Given the description of an element on the screen output the (x, y) to click on. 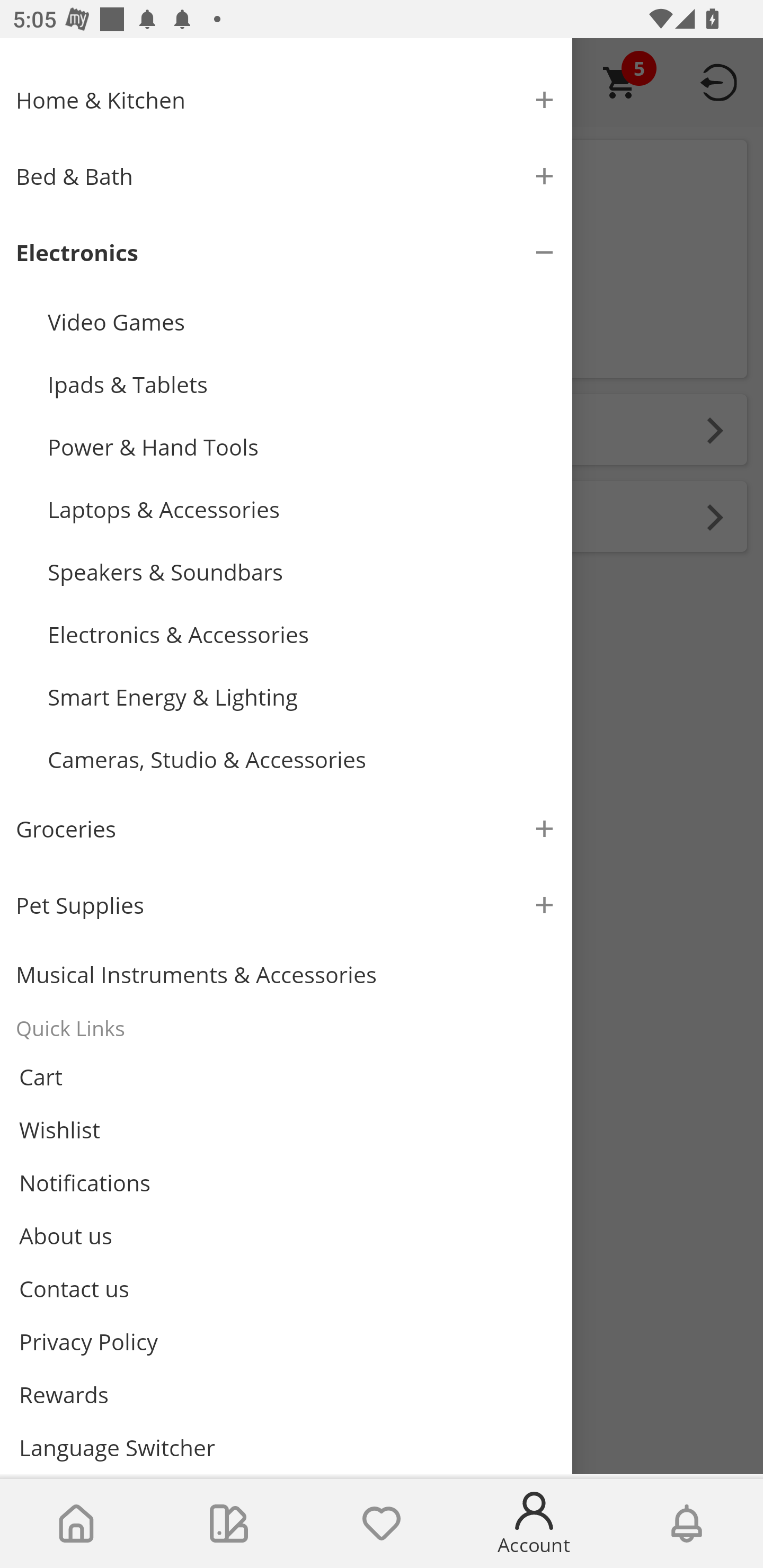
Home & Kitchen (286, 99)
Bed & Bath (286, 175)
Video Games (302, 321)
Ipads & Tablets (302, 383)
Power & Hand Tools (302, 446)
Laptops & Accessories (302, 509)
Speakers & Soundbars (302, 571)
Electronics & Accessories (302, 634)
Smart Energy & Lighting (302, 697)
Cameras, Studio & Accessories (302, 759)
Groceries (286, 828)
Pet Supplies (286, 905)
Musical Instruments & Accessories (286, 974)
Cart (286, 1076)
Wishlist (286, 1130)
Notifications (286, 1182)
About us (286, 1235)
Contact us (286, 1288)
Privacy Policy (286, 1341)
Rewards (286, 1394)
Language Switcher (286, 1446)
Home (76, 1523)
Collections (228, 1523)
Wishlist (381, 1523)
Notifications (686, 1523)
